Given the description of an element on the screen output the (x, y) to click on. 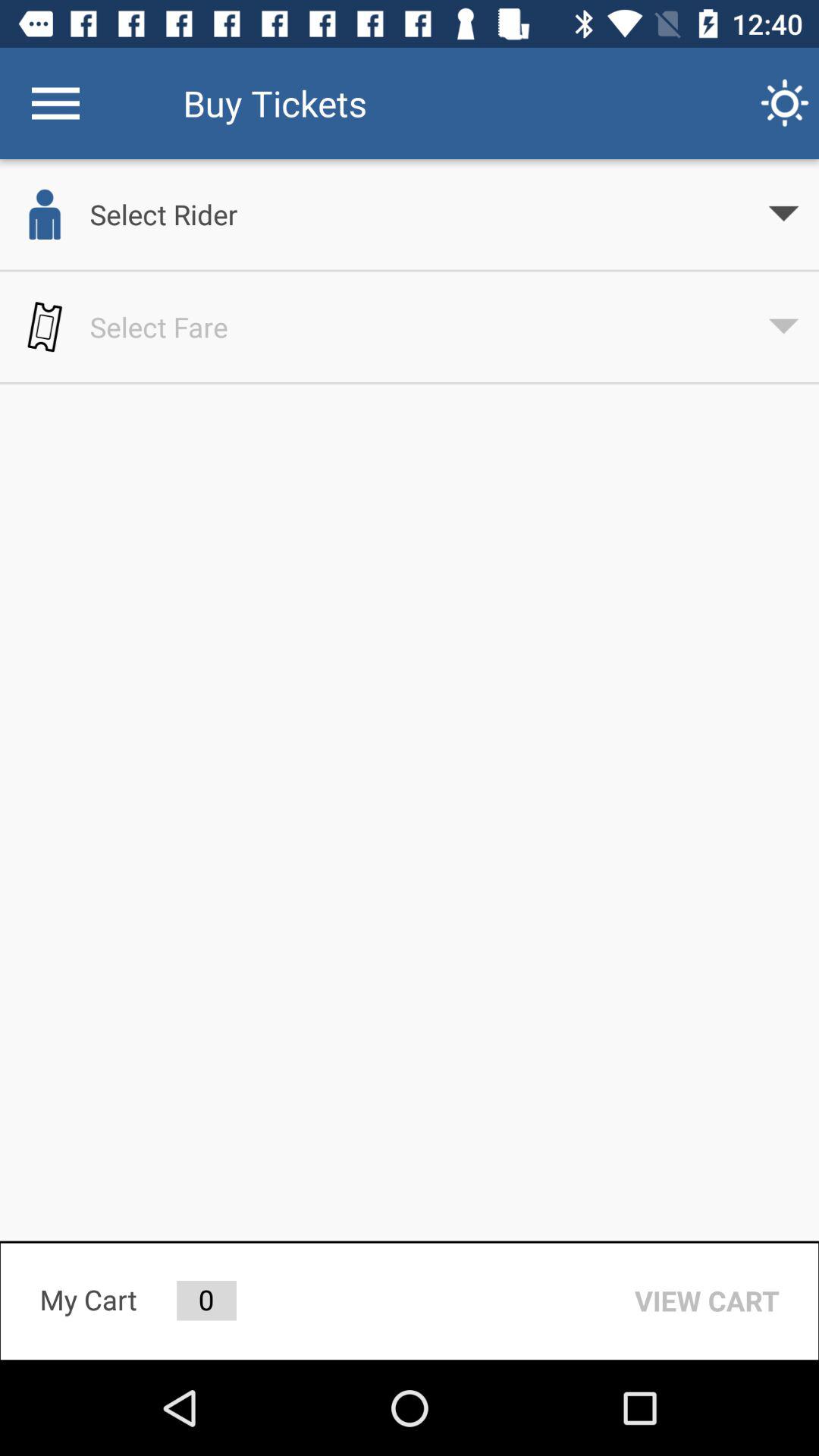
turn off item to the right of buy tickets (785, 103)
